Given the description of an element on the screen output the (x, y) to click on. 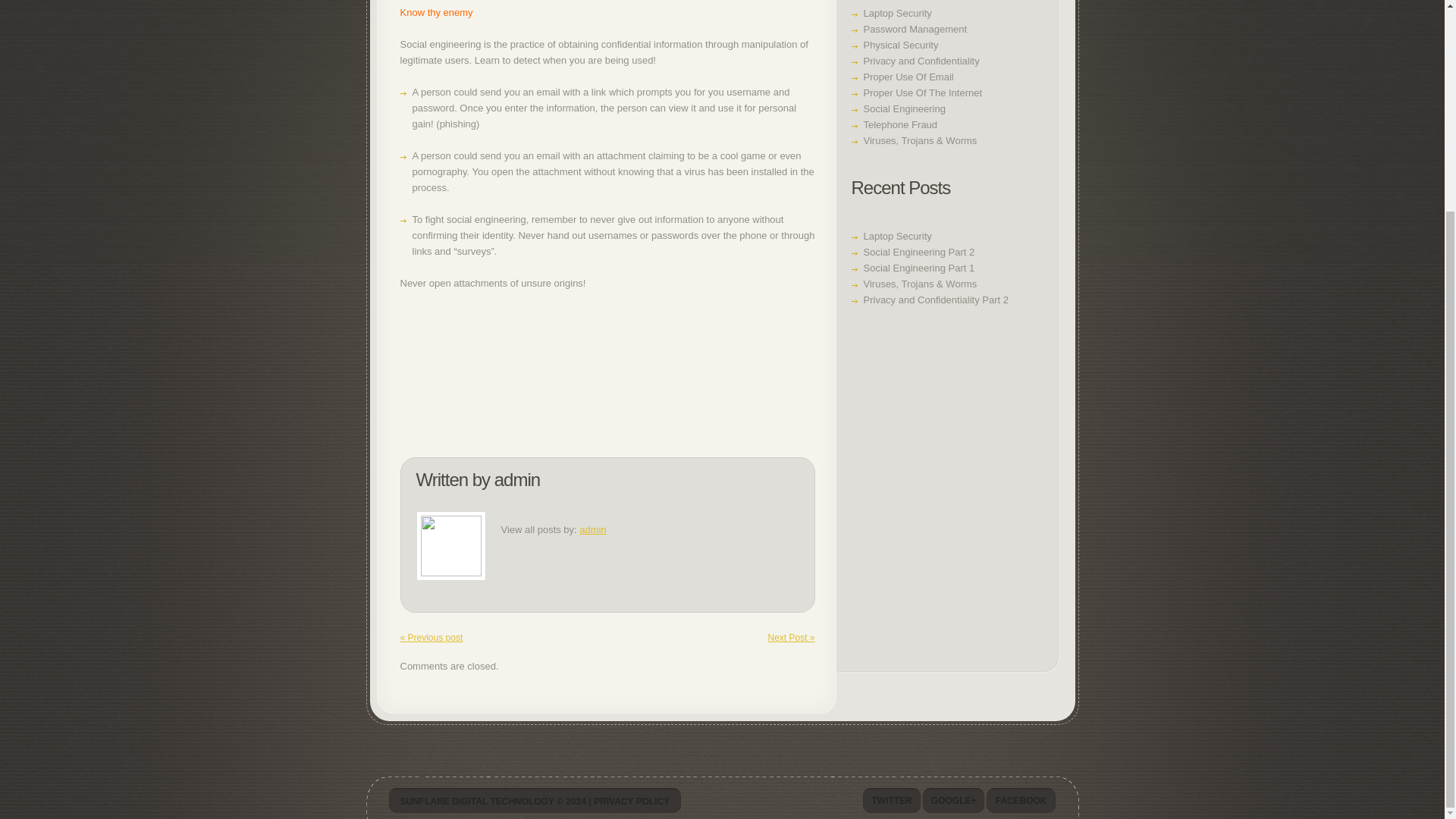
Privacy and Confidentiality Part 2 (935, 299)
View all posts filed under Laptop Security (897, 12)
Password Management (914, 29)
Laptop Security (897, 235)
Laptop Security (897, 12)
PRIVACY POLICY (631, 801)
View all posts filed under Physical Security (900, 44)
Posts by admin (517, 479)
View all posts filed under Proper Use Of The Internet (922, 92)
Social Engineering Part 2 (918, 251)
